Given the description of an element on the screen output the (x, y) to click on. 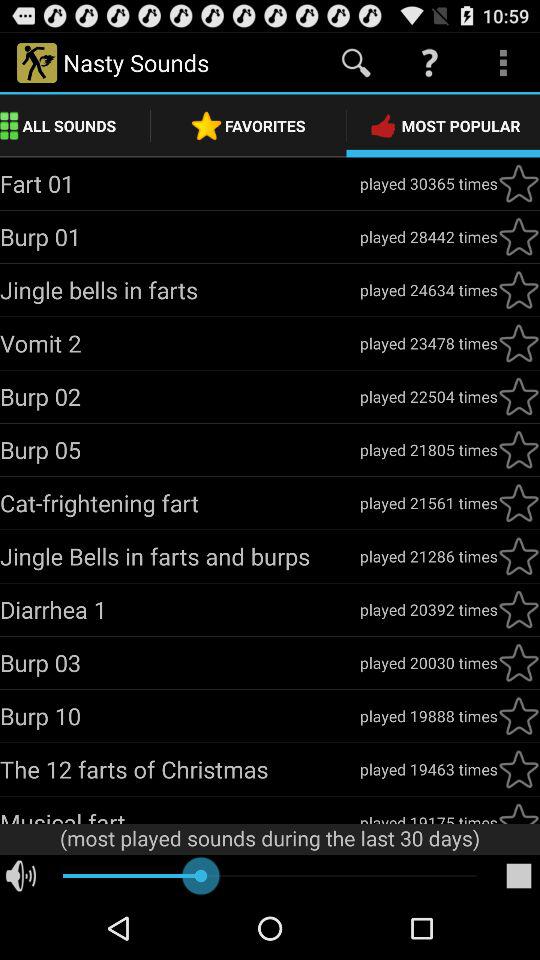
press app next to the played 23478 times app (180, 343)
